Given the description of an element on the screen output the (x, y) to click on. 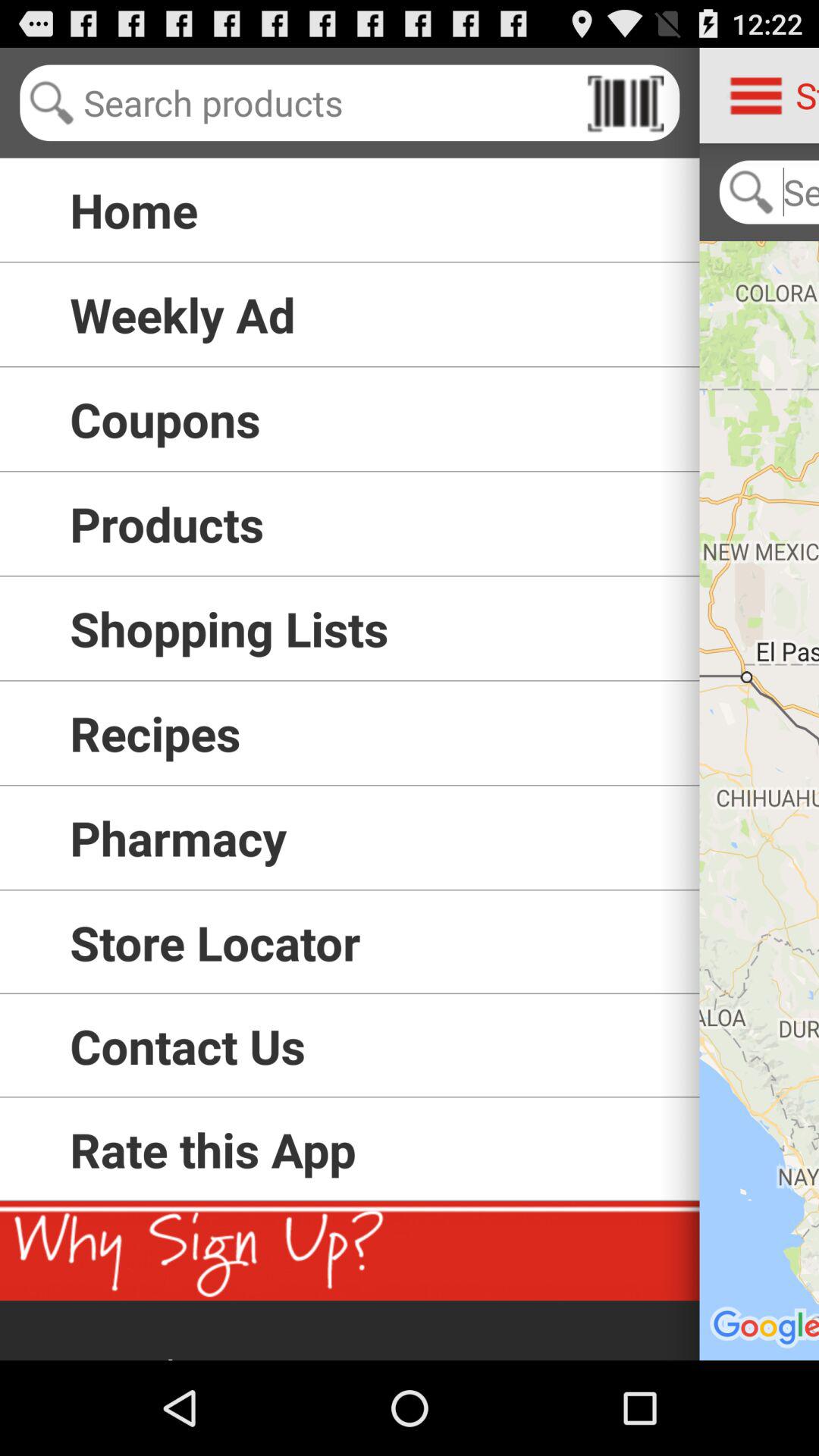
click on the button which is in the text field at the right side (625, 103)
